Given the description of an element on the screen output the (x, y) to click on. 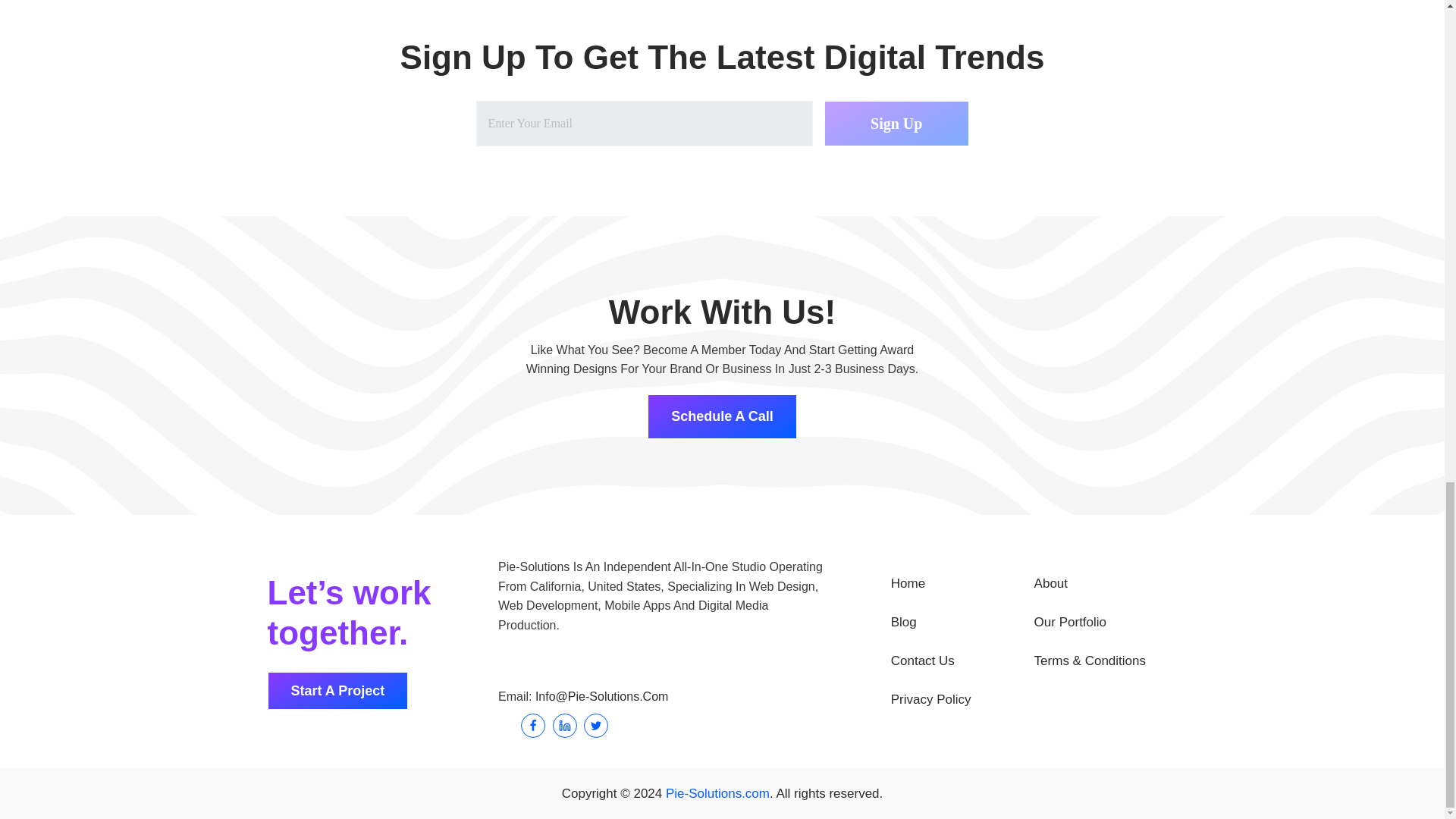
About (1105, 583)
Home (962, 583)
Privacy Policy (962, 699)
Contact Us (962, 660)
Blog (962, 621)
Schedule A Call (721, 415)
Start A Project (336, 690)
Our Portfolio (1105, 621)
Pie-Solutions.com (717, 793)
Sign Up (896, 123)
